Given the description of an element on the screen output the (x, y) to click on. 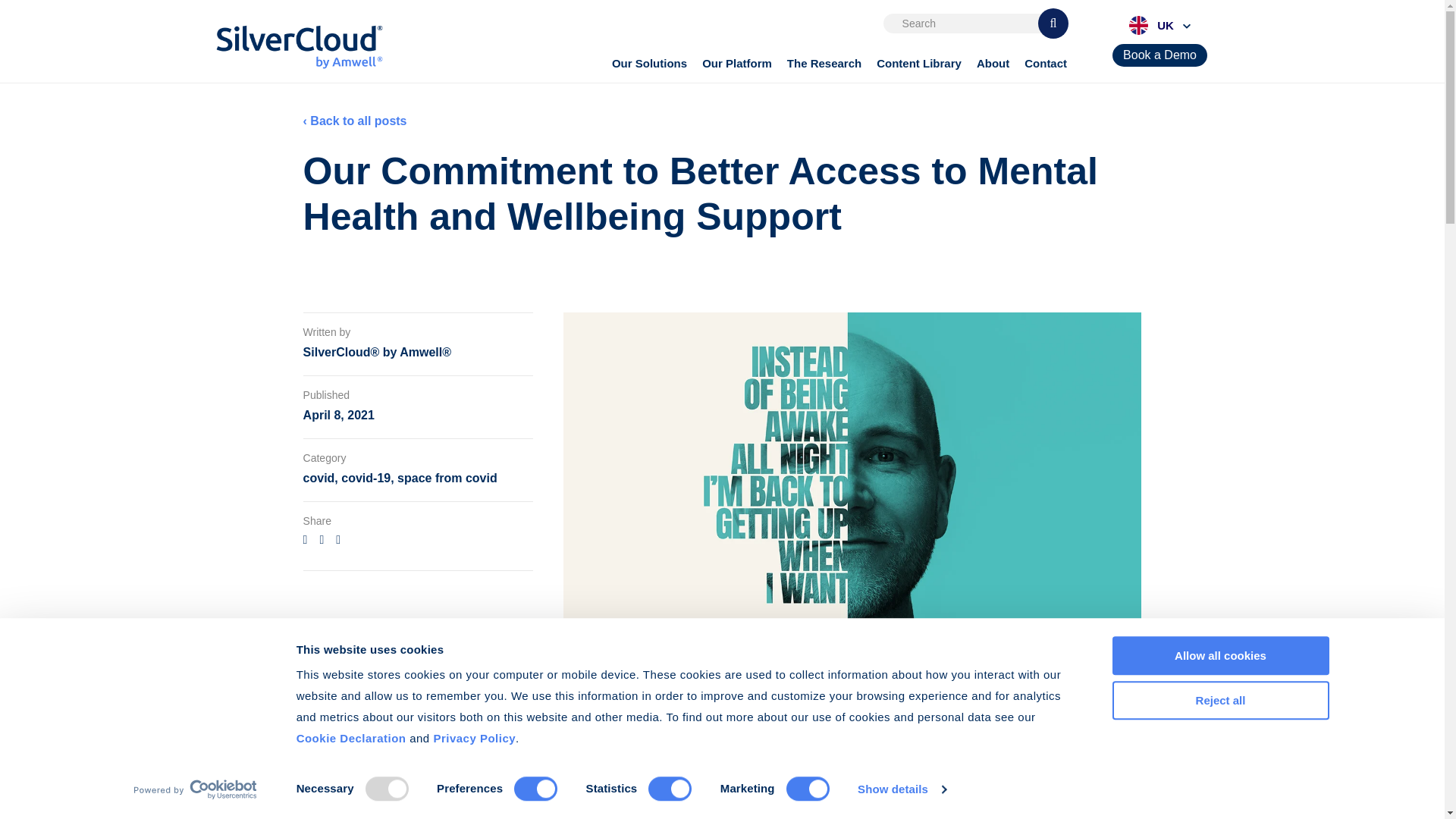
Cookie Declaration (351, 738)
Privacy Policy (473, 738)
Show details (900, 789)
